Given the description of an element on the screen output the (x, y) to click on. 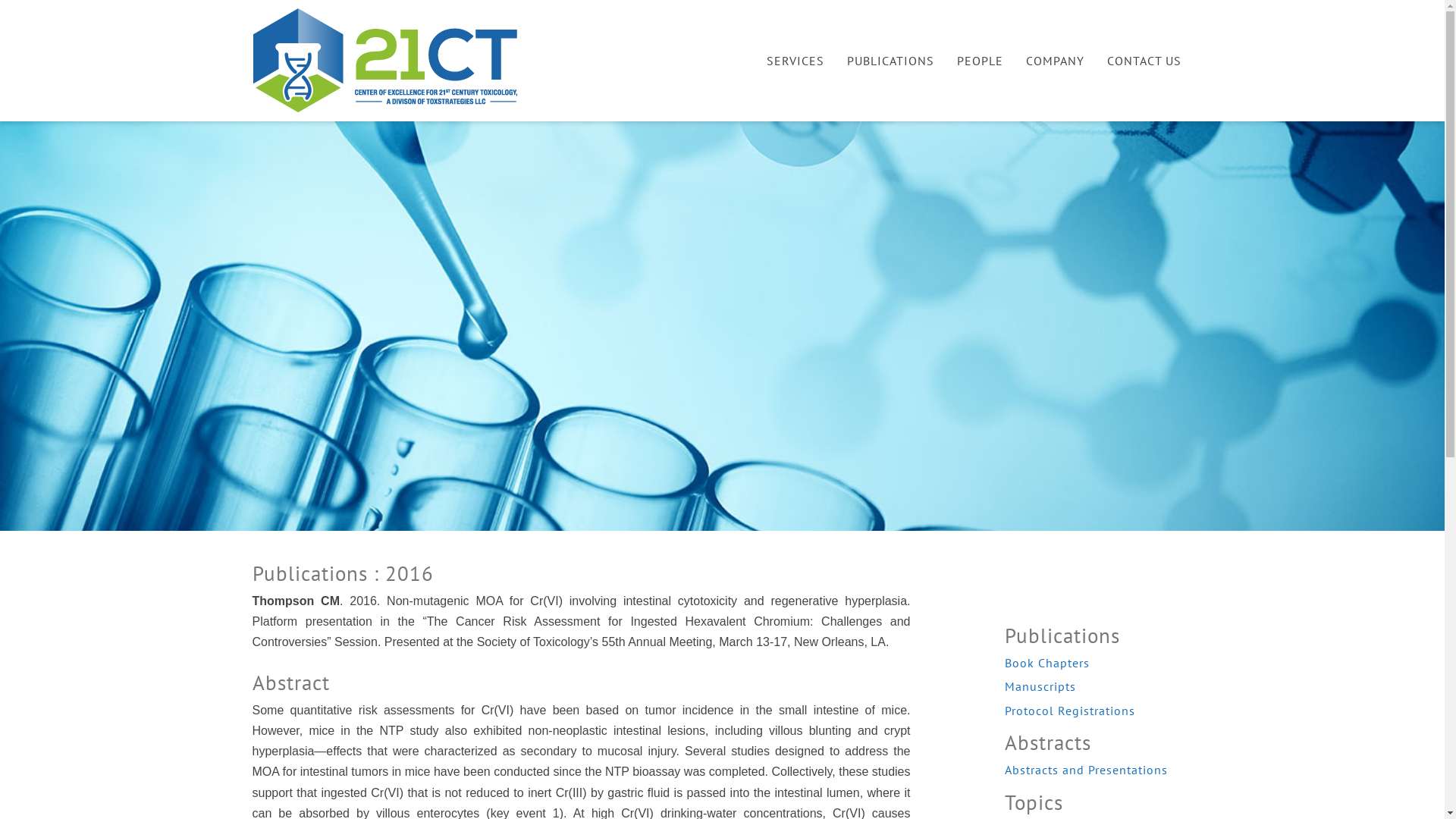
COMPANY Element type: text (1054, 60)
PUBLICATIONS Element type: text (890, 60)
SERVICES Element type: text (795, 60)
CONTACT US Element type: text (1143, 60)
Manuscripts Element type: text (1098, 686)
Abstracts and Presentations Element type: text (1098, 770)
21 Century Toxicology Element type: hover (387, 59)
Protocol Registrations Element type: text (1098, 711)
Book Chapters Element type: text (1098, 663)
PEOPLE Element type: text (978, 60)
